Given the description of an element on the screen output the (x, y) to click on. 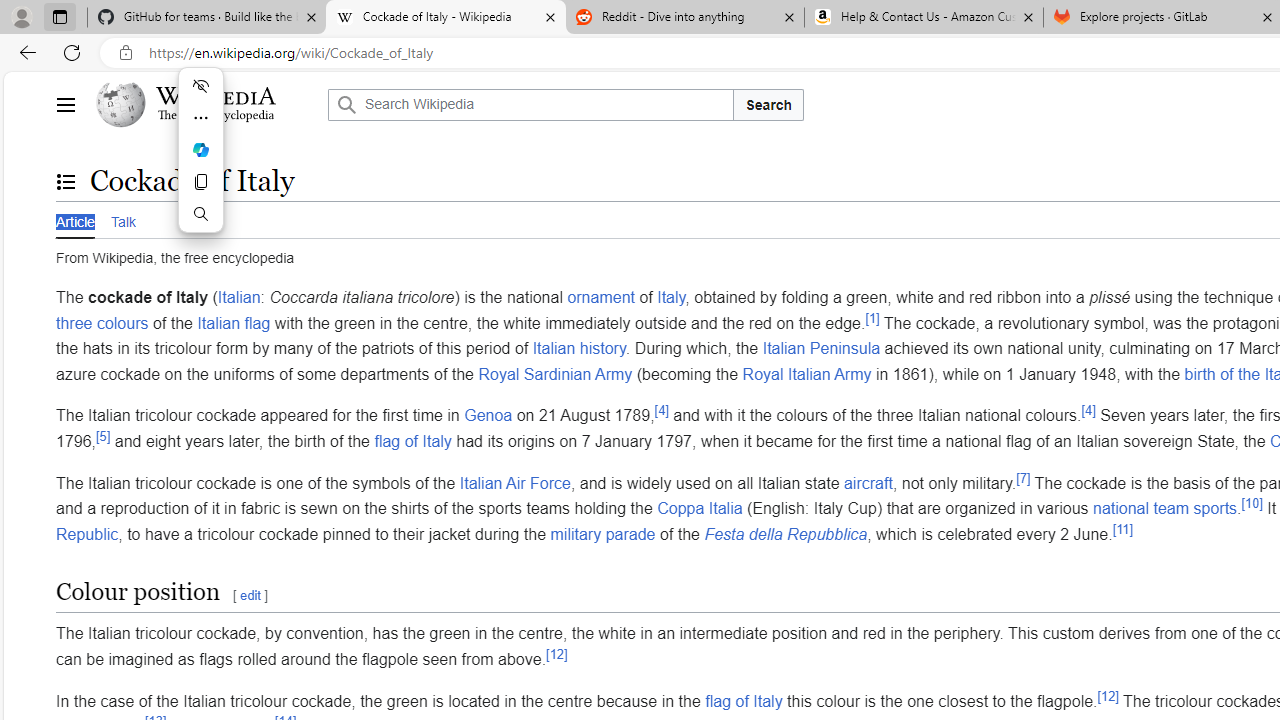
Talk (122, 219)
Italian flag (234, 322)
Cockade of Italy - Wikipedia (445, 17)
[4] (1088, 411)
flag of Italy (744, 700)
Hide menu (200, 85)
Italy (671, 297)
Copy (200, 182)
The Free Encyclopedia (216, 116)
[10] (1252, 503)
Main menu (65, 104)
